Given the description of an element on the screen output the (x, y) to click on. 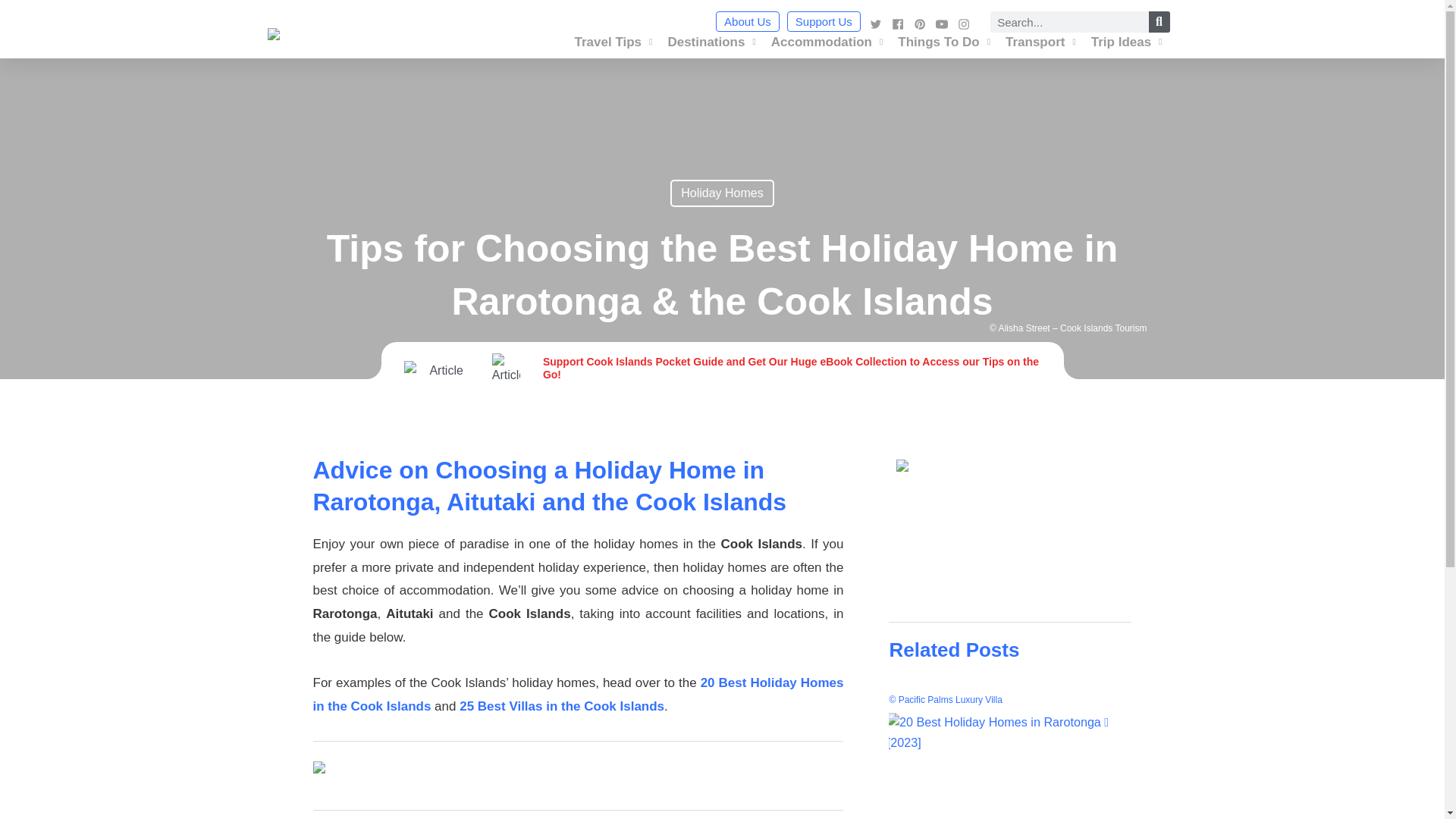
Search (1158, 21)
Support Us (823, 21)
Accommodation (827, 42)
About Us (747, 21)
Travel Tips (613, 42)
Destinations (710, 42)
